Given the description of an element on the screen output the (x, y) to click on. 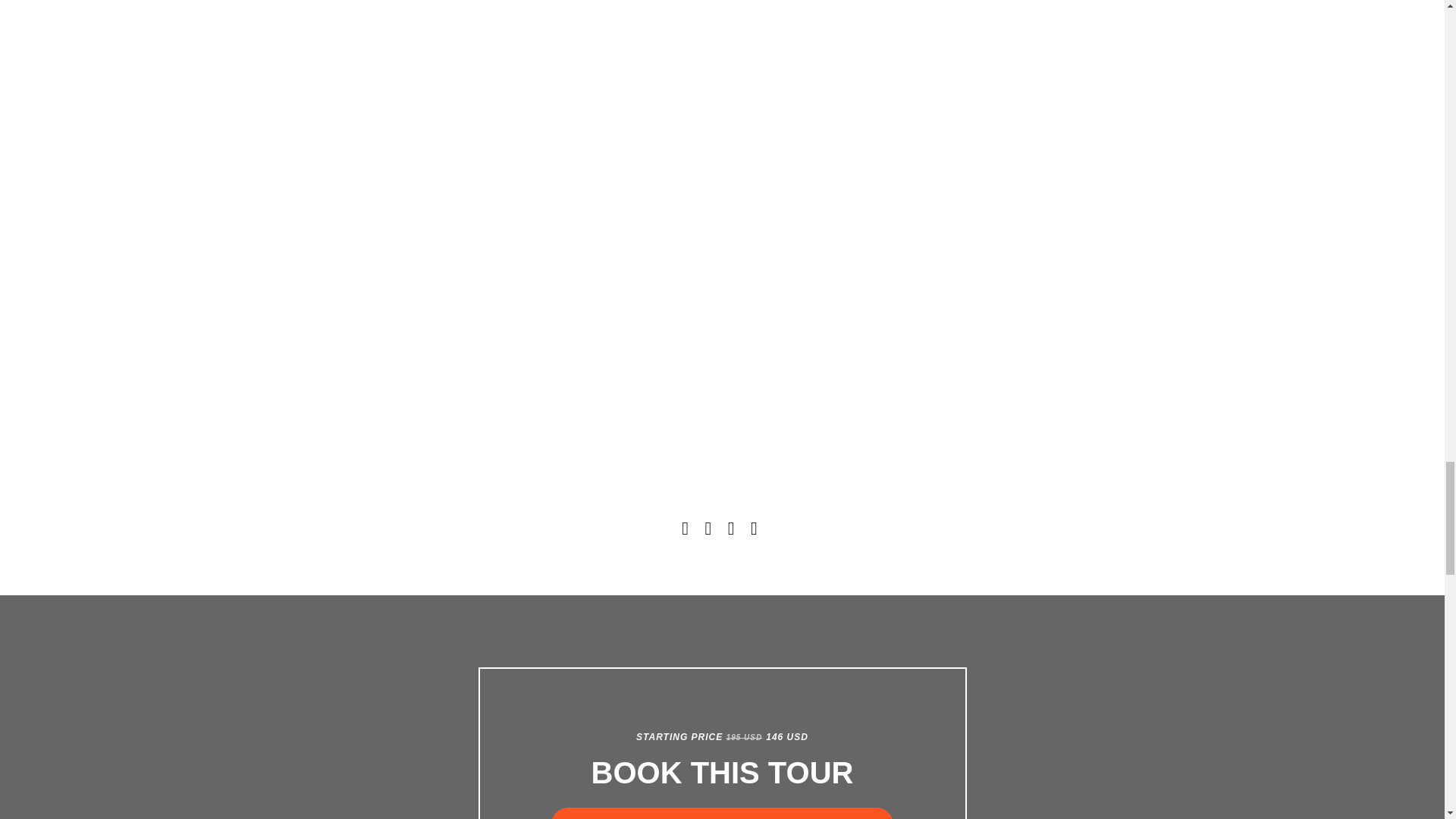
Share On Facebook (687, 530)
Share On Pinterest (733, 530)
Share On Twitter (710, 530)
